Given the description of an element on the screen output the (x, y) to click on. 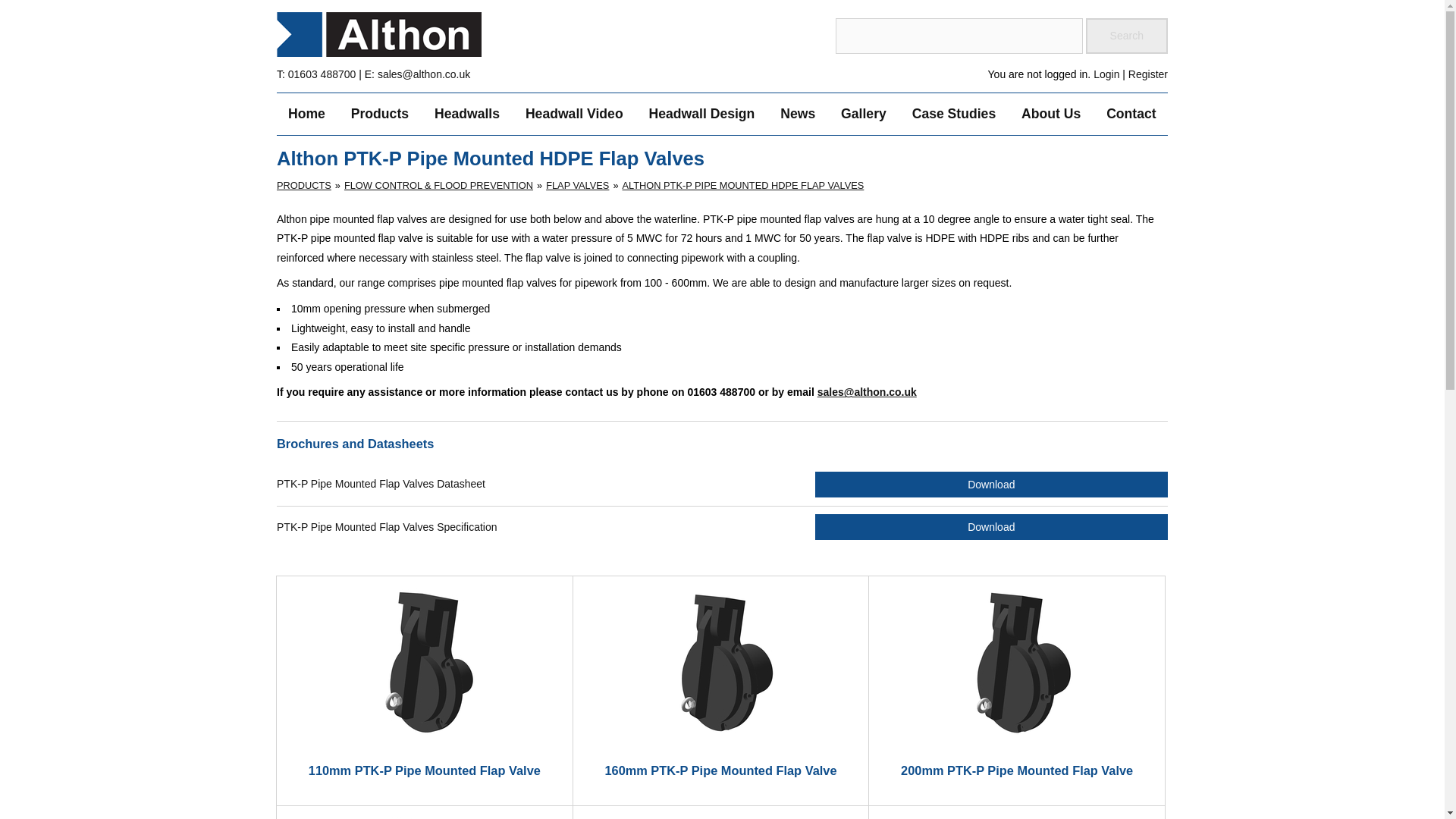
Products (379, 114)
01603 488700 (322, 73)
Login (1106, 73)
Search (1126, 36)
Home (306, 114)
Register (1147, 73)
Home (306, 114)
Search (1126, 36)
